Given the description of an element on the screen output the (x, y) to click on. 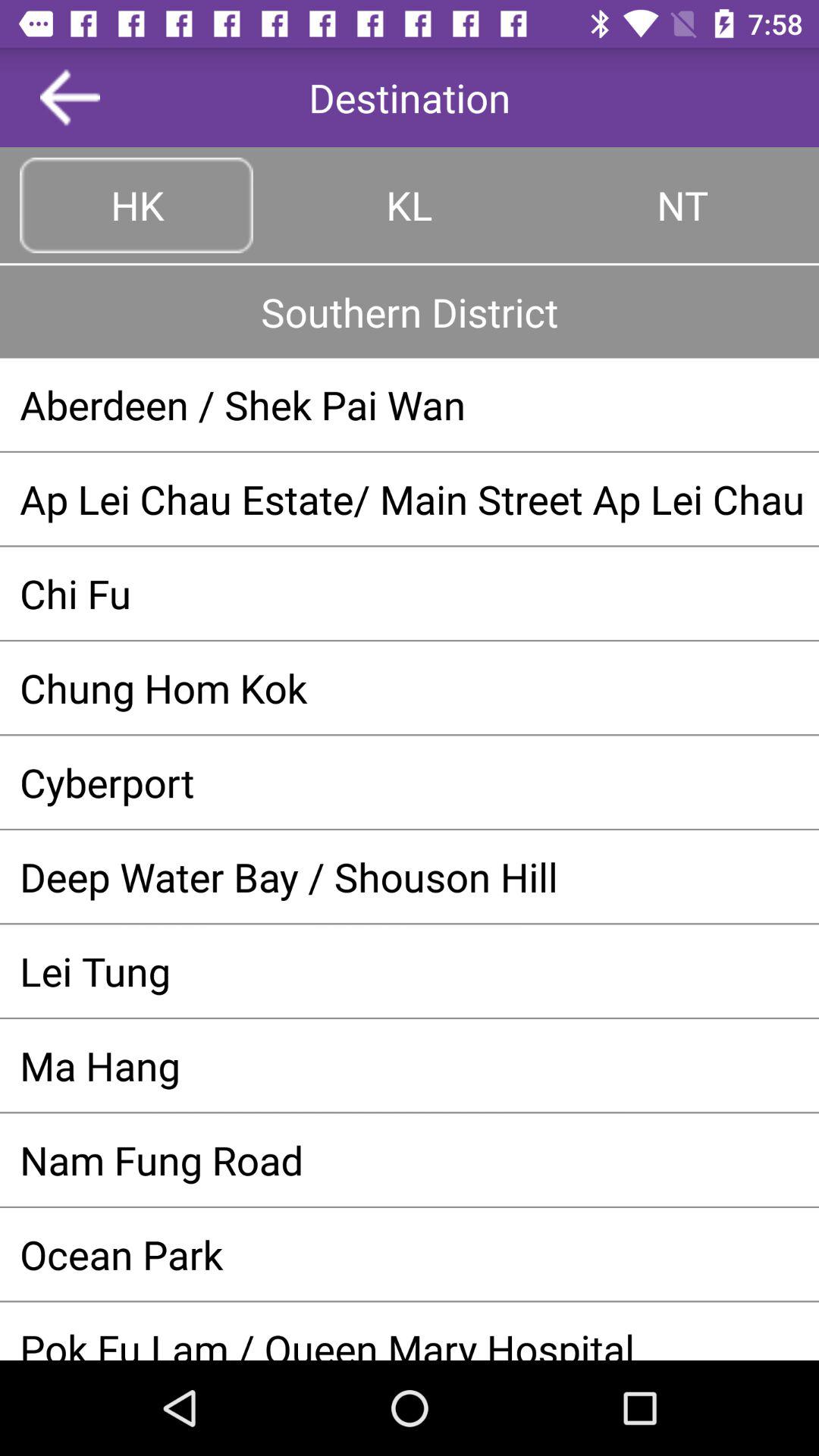
turn off ma hang app (409, 1065)
